Given the description of an element on the screen output the (x, y) to click on. 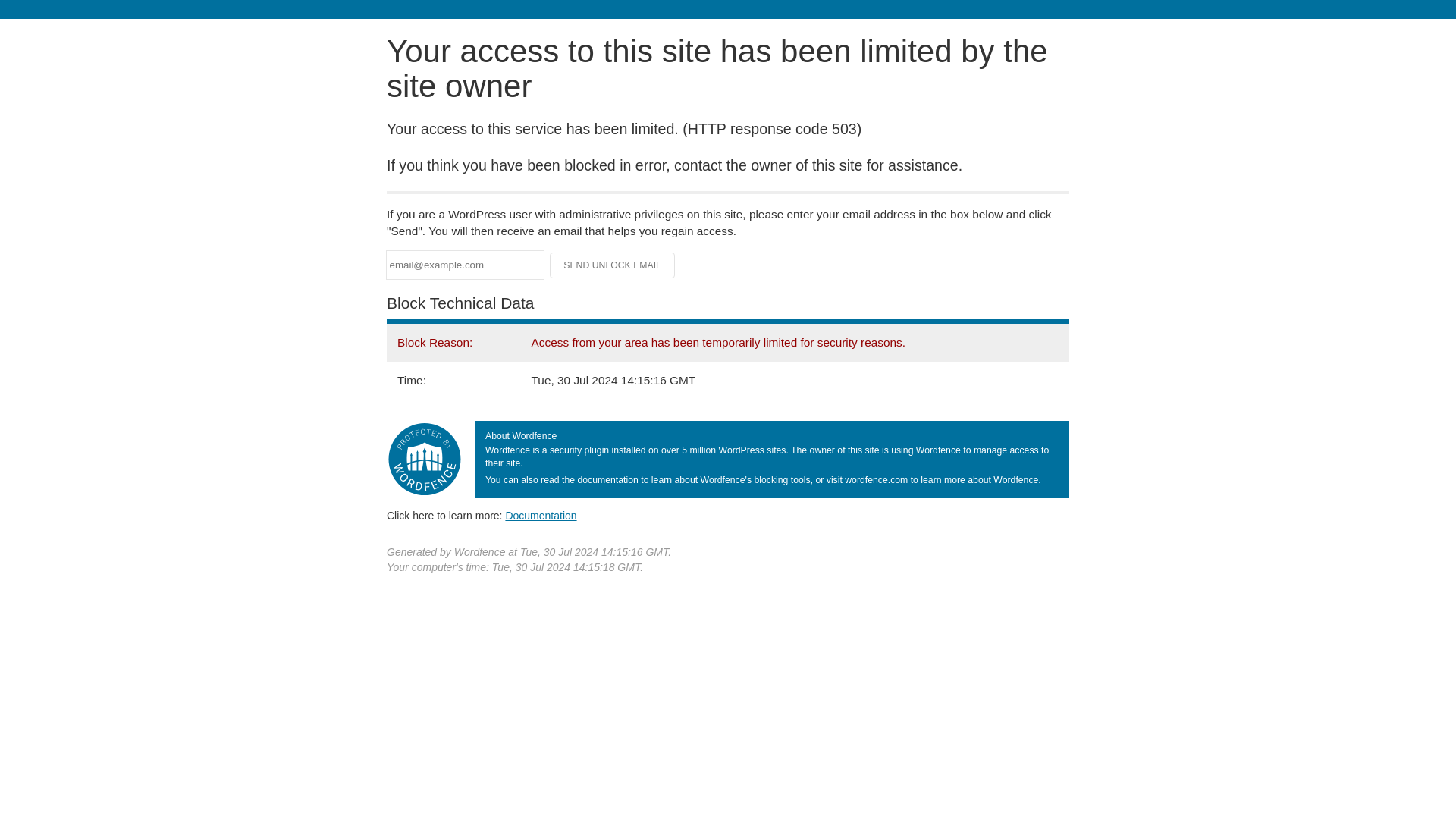
Documentation (540, 515)
Send Unlock Email (612, 265)
Send Unlock Email (612, 265)
